Given the description of an element on the screen output the (x, y) to click on. 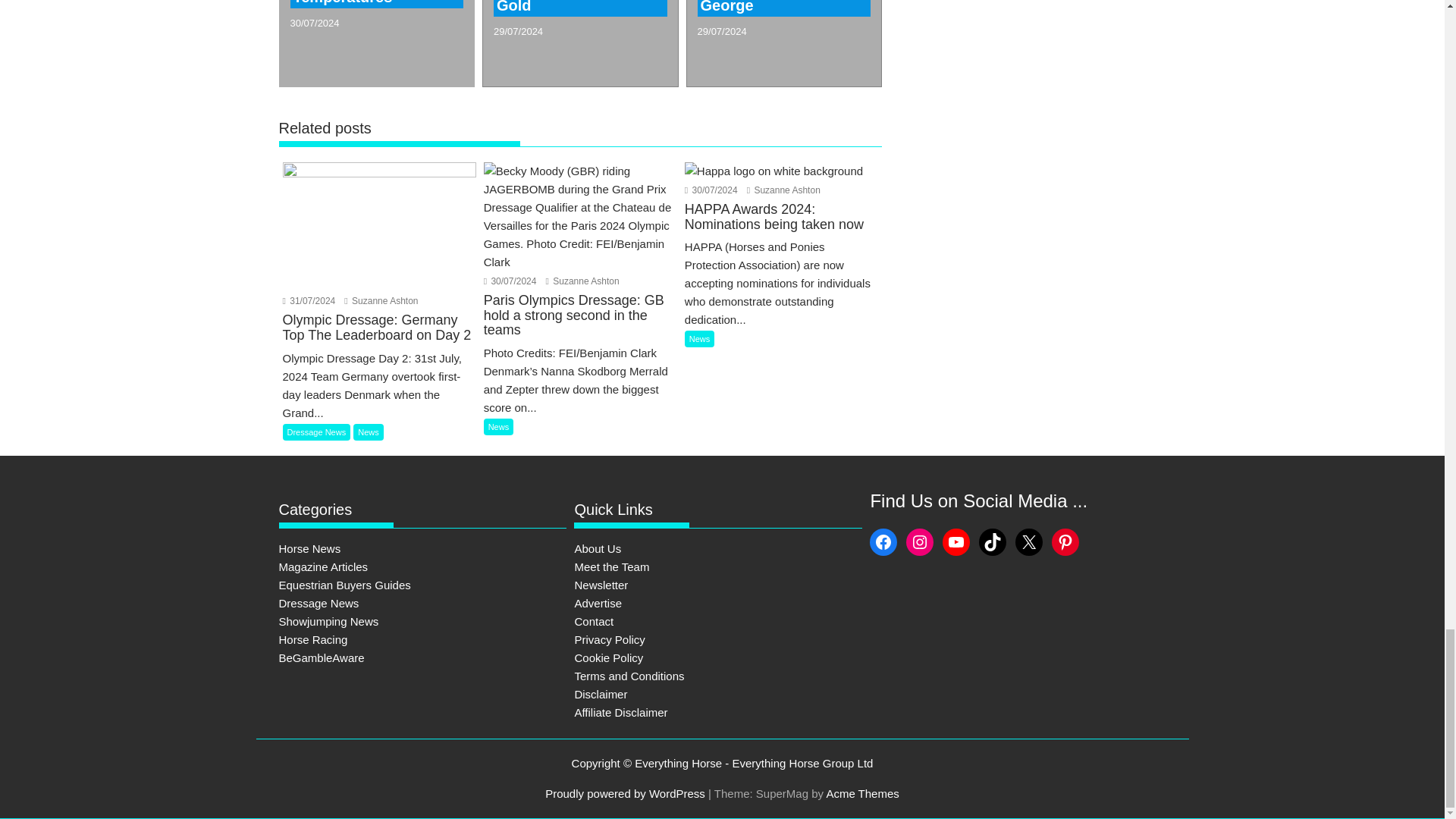
Suzanne Ashton (583, 281)
Suzanne Ashton (380, 300)
Suzanne Ashton (783, 190)
